Given the description of an element on the screen output the (x, y) to click on. 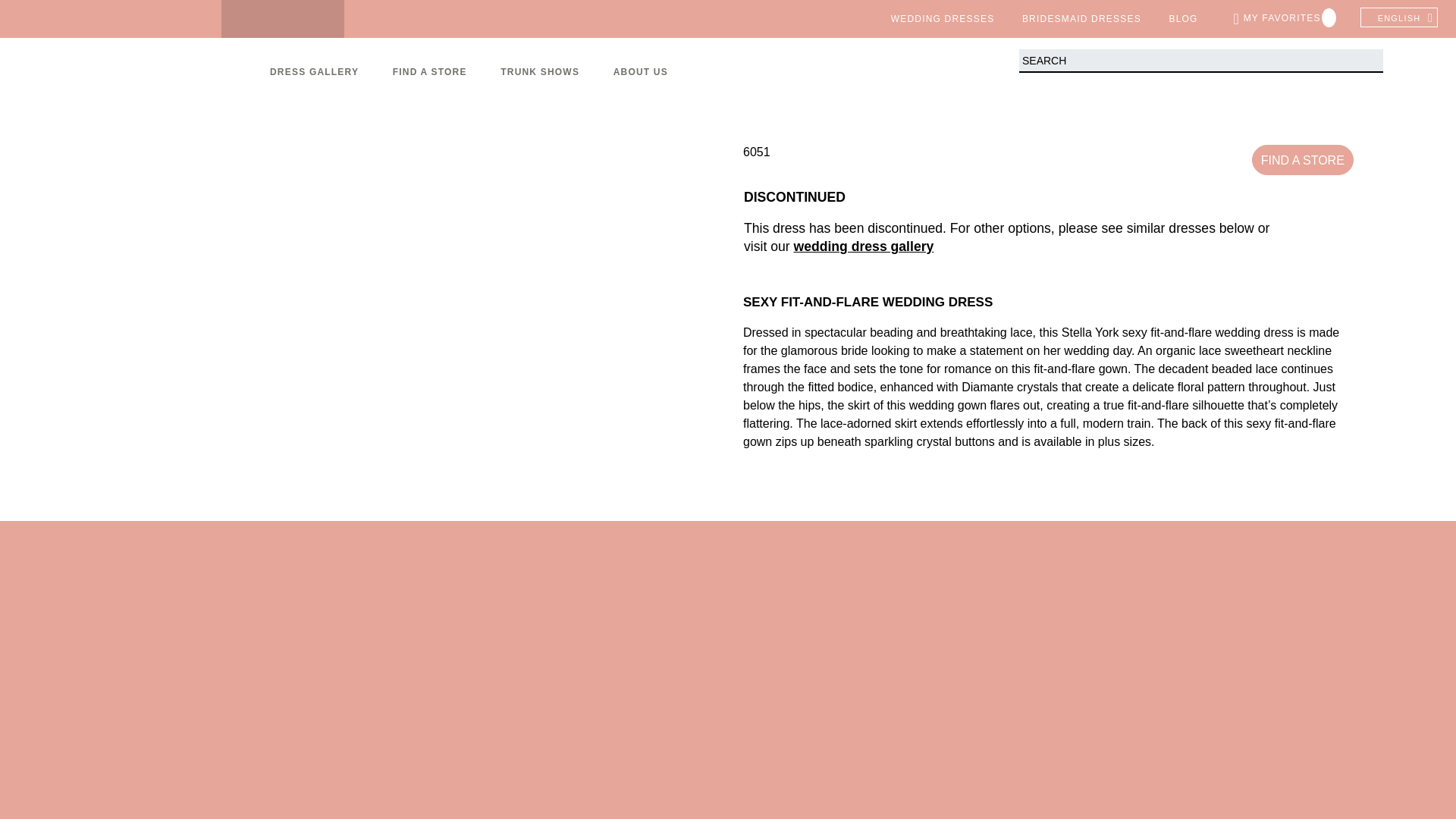
See more dresses (863, 246)
Please enter at least three characters (1201, 60)
My Favorites (1284, 17)
